Given the description of an element on the screen output the (x, y) to click on. 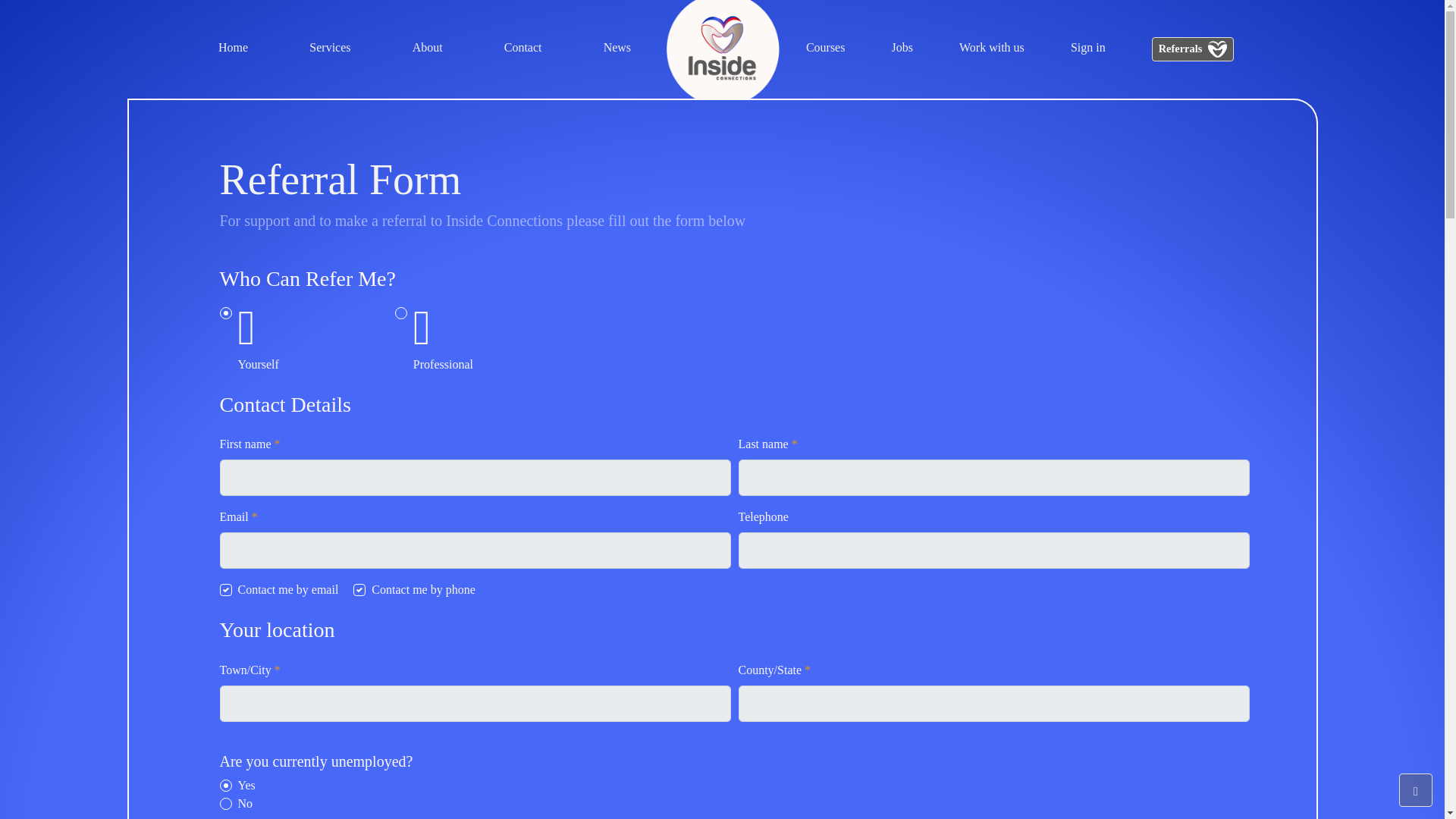
Home (232, 48)
Jobs (901, 48)
Work with us (992, 48)
News (617, 48)
About (427, 48)
Referrals (1192, 49)
Sign in (1087, 48)
Courses (825, 48)
Services (329, 48)
Contact (522, 48)
